Given the description of an element on the screen output the (x, y) to click on. 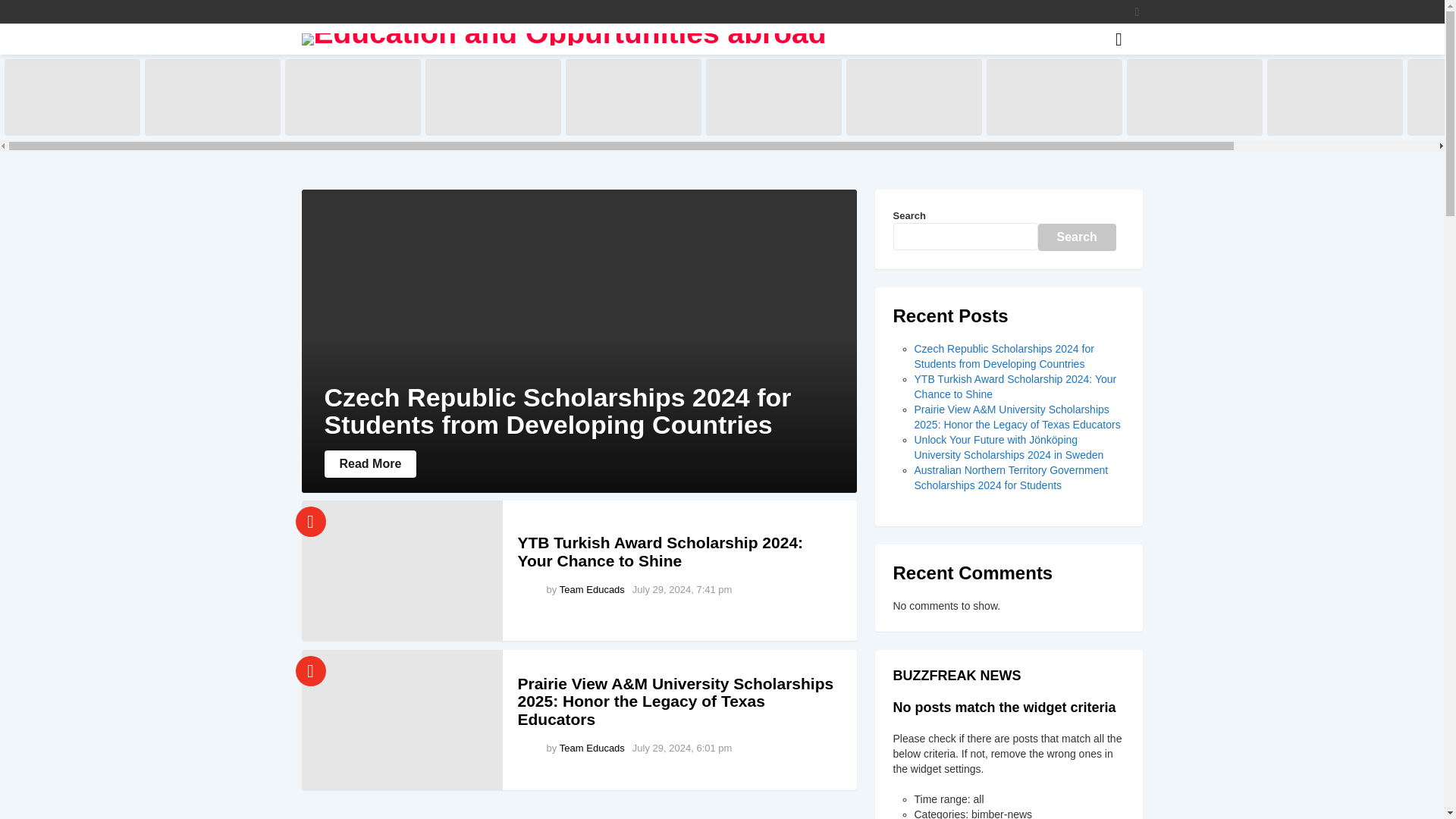
Trending (310, 521)
Posts by Team Educads (591, 589)
YTB Turkish Award Scholarship 2024: Your Chance to Shine (212, 96)
Read More (370, 463)
YTB Turkish Award Scholarship 2024: Your Chance to Shine (401, 570)
Team Educads (591, 589)
YTB Turkish Award Scholarship 2024: Your Chance to Shine (659, 551)
